Given the description of an element on the screen output the (x, y) to click on. 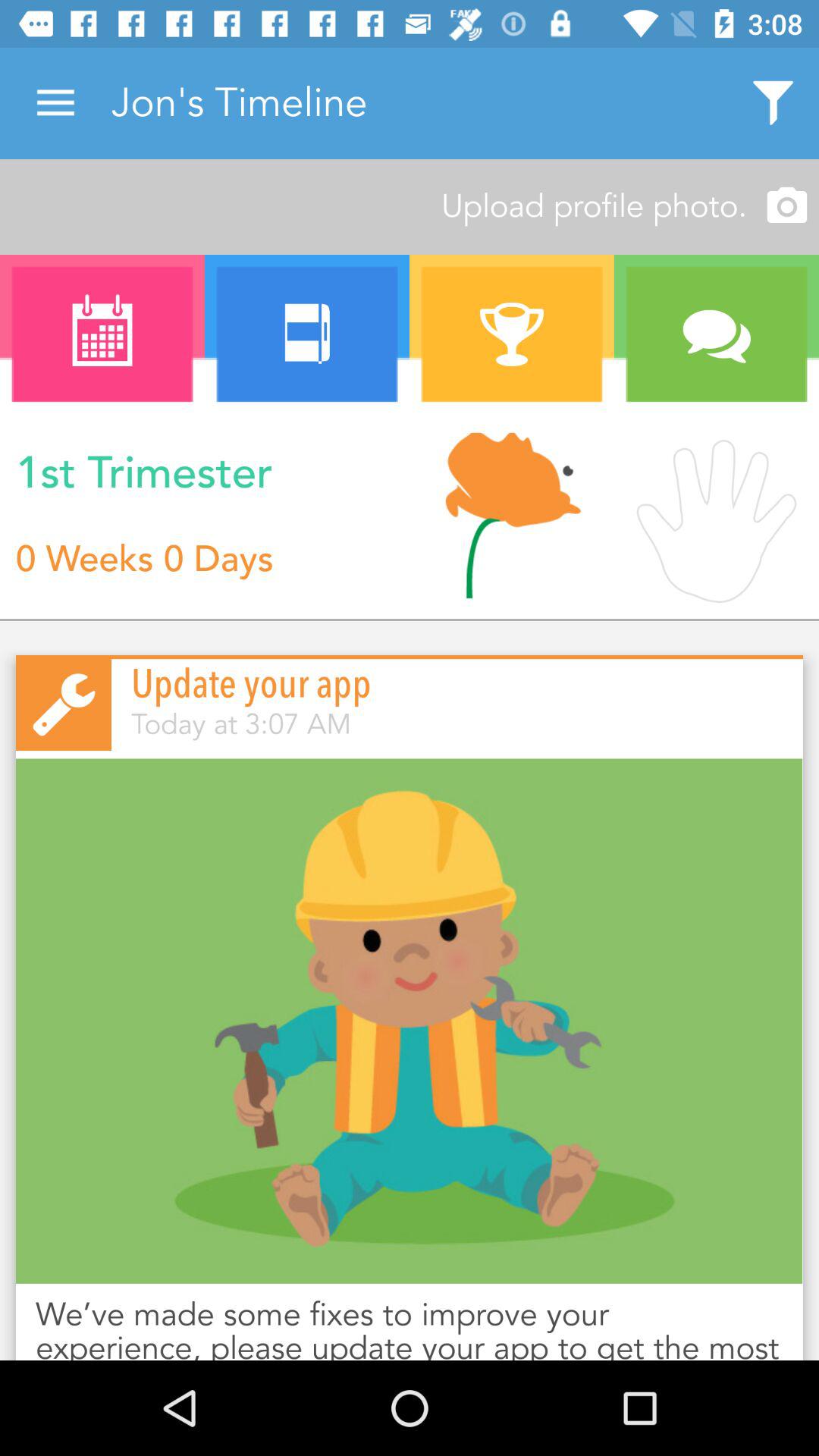
turn on item to the left of the jon's timeline icon (55, 103)
